Given the description of an element on the screen output the (x, y) to click on. 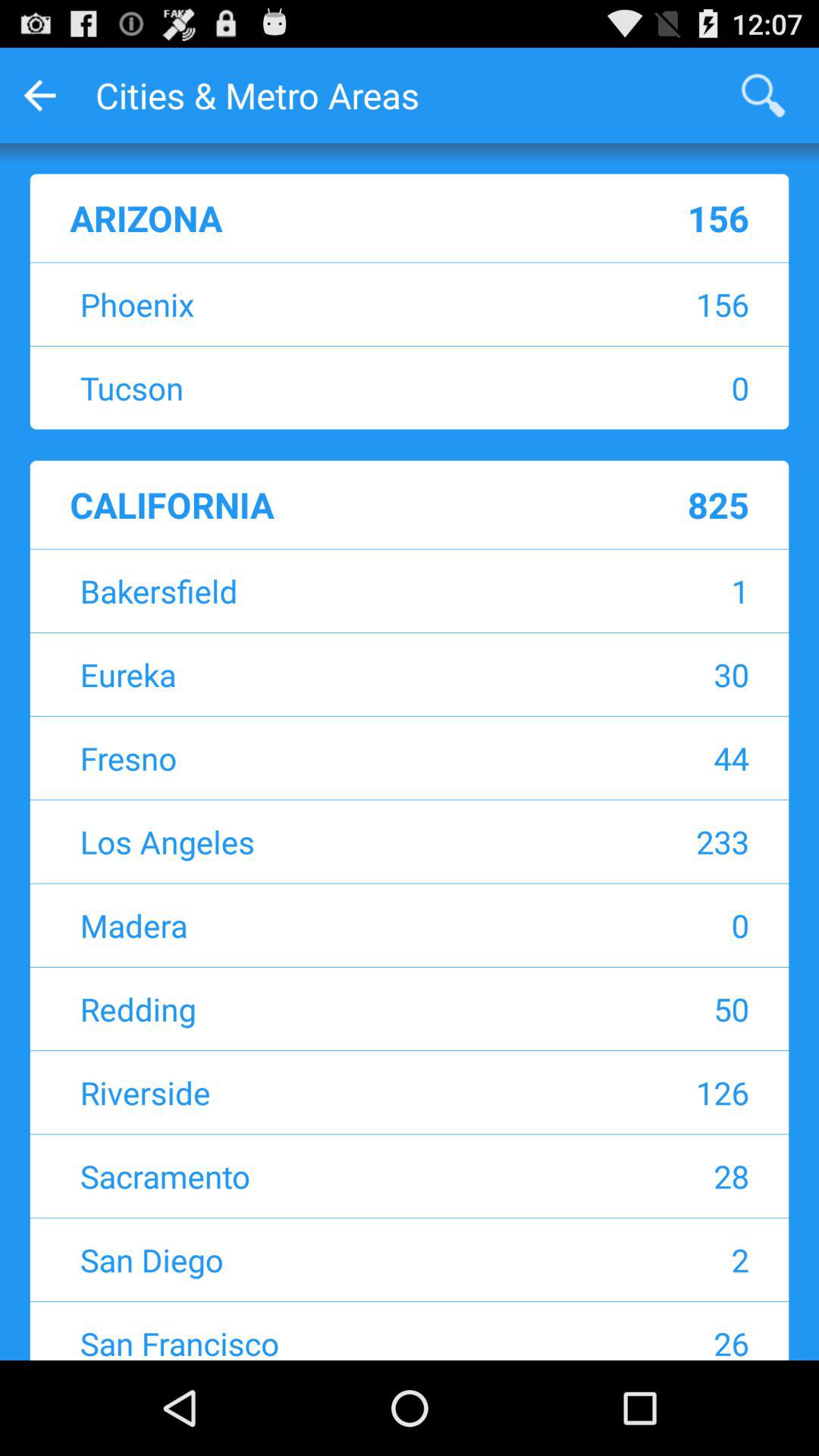
open item next to redding icon (649, 1008)
